Given the description of an element on the screen output the (x, y) to click on. 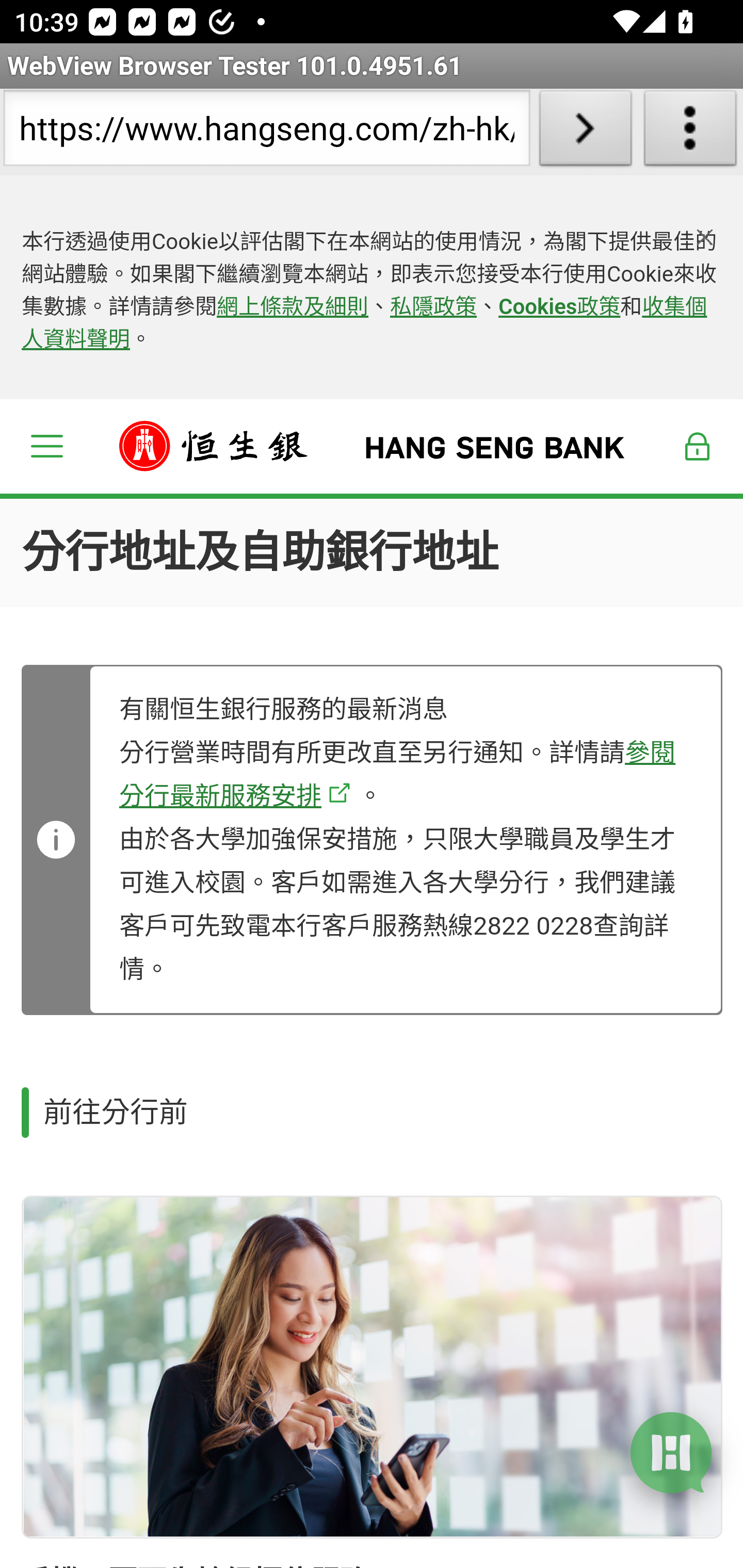
Load URL (585, 132)
About WebView (690, 132)
收集個人資料聲明 (364, 324)
網上條款及細則 (293, 306)
私隱政策 (434, 306)
Cookies政策 (559, 306)
選單 (46, 445)
恒生銀行 (372, 445)
登入 (697, 445)
參閱分行最新服務安排 (於新視窗開啟) 參閱分行最新服務安排 (397, 774)
手機取票預先輪候櫃位服務 了解更多 (371, 1367)
與 HARO 對話 (於新視窗開啟) (670, 1451)
